Given the description of an element on the screen output the (x, y) to click on. 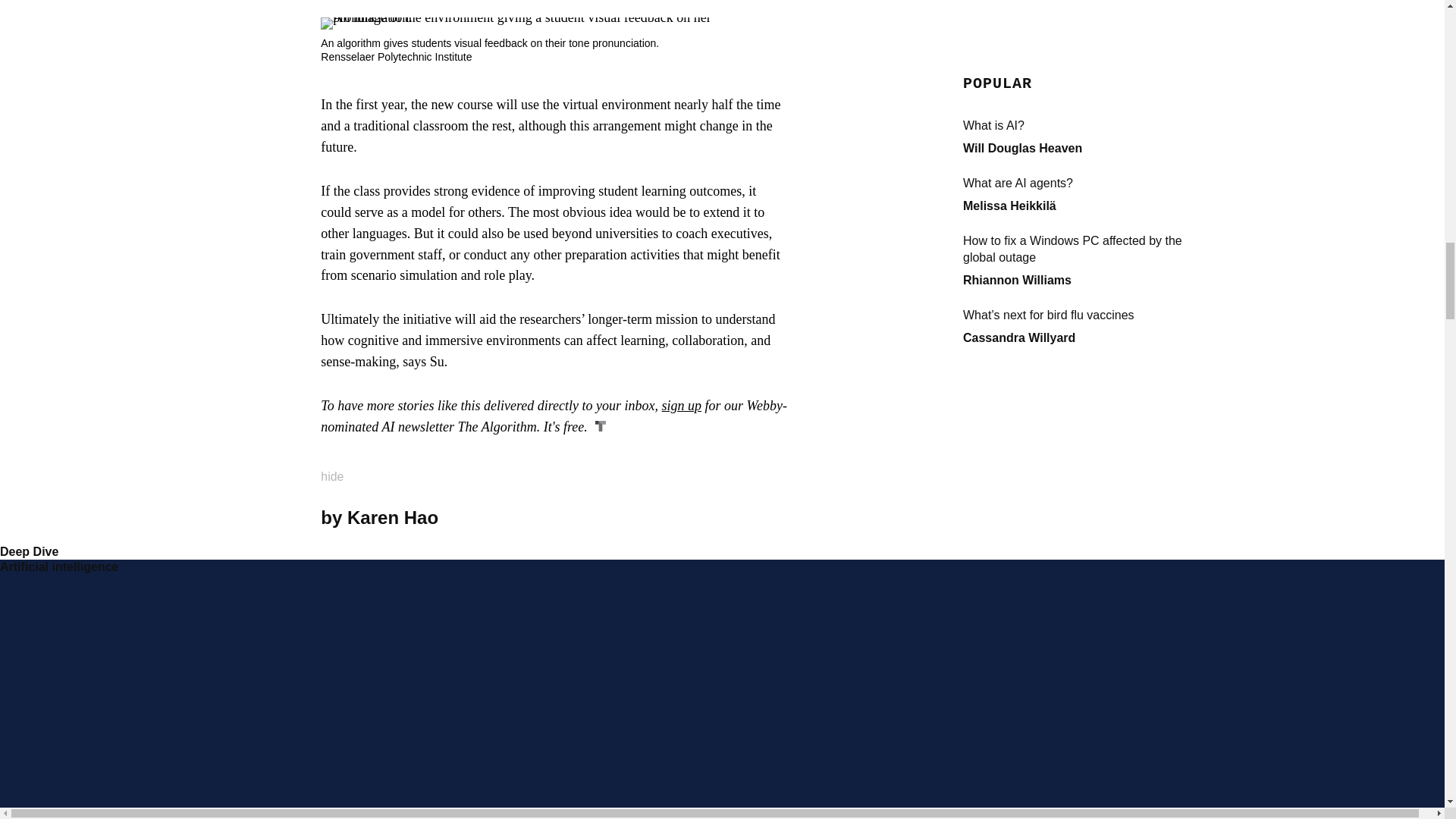
Share story on linkedin (703, 517)
sign up (681, 405)
Share story on facebook (754, 517)
Share story on email (780, 517)
hide (341, 472)
Karen Hao (392, 516)
Share story on twitter (730, 517)
